Given the description of an element on the screen output the (x, y) to click on. 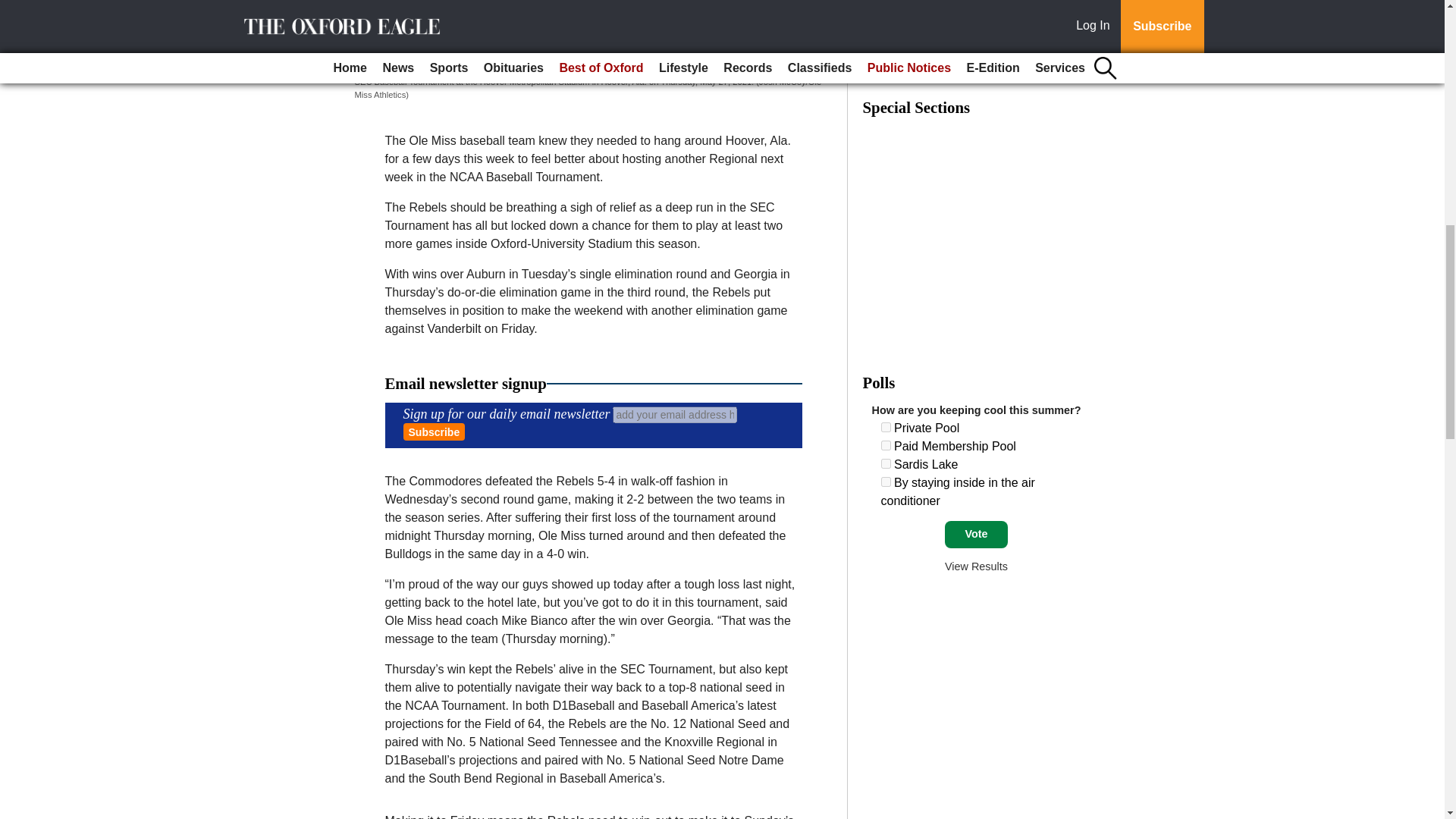
Subscribe (434, 431)
166 (885, 463)
164 (885, 427)
Subscribe (434, 431)
167 (885, 481)
View Results Of This Poll (975, 566)
   Vote    (975, 533)
165 (885, 445)
